Given the description of an element on the screen output the (x, y) to click on. 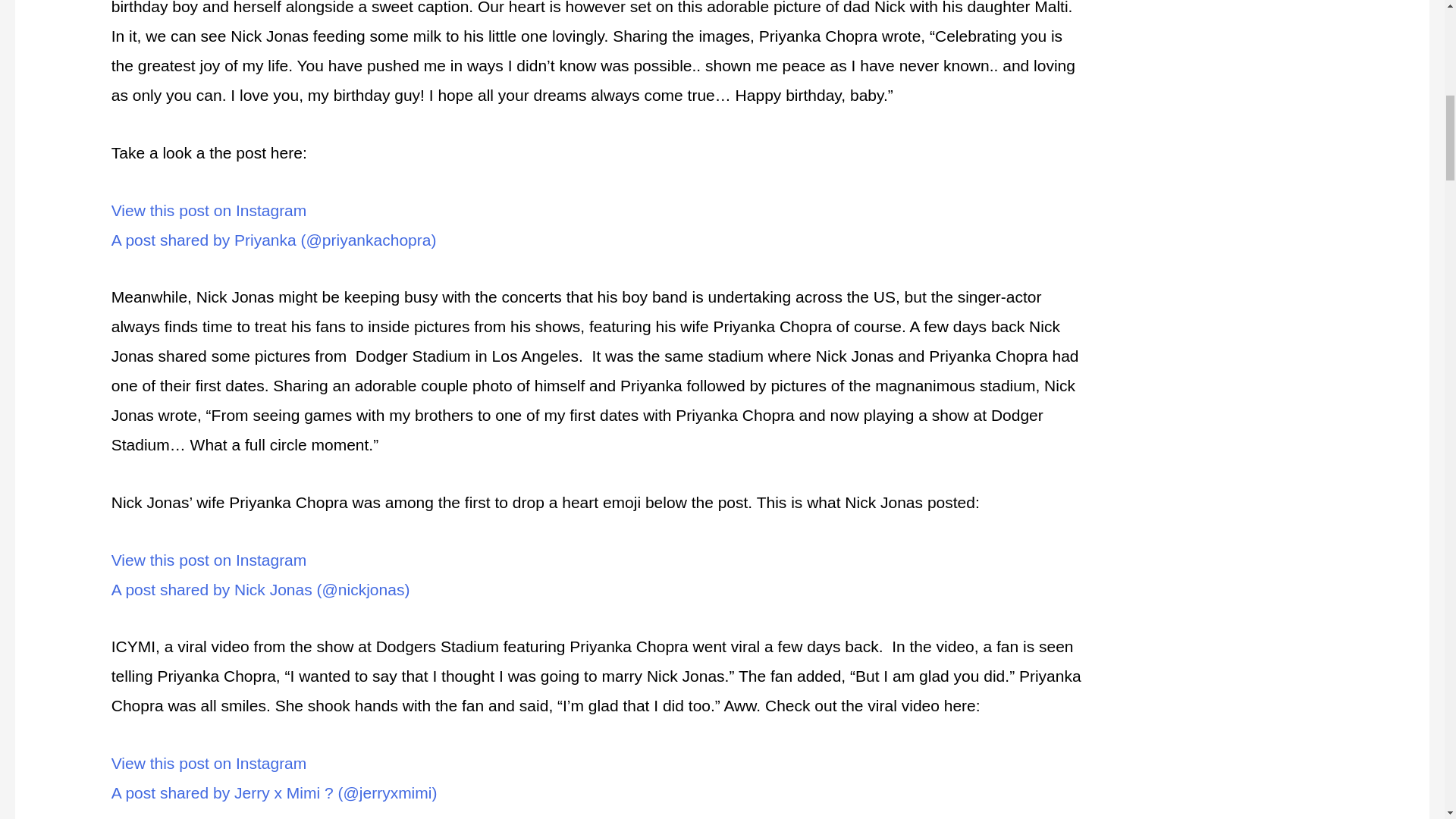
View this post on Instagram (209, 763)
View this post on Instagram (209, 559)
View this post on Instagram (209, 210)
